Given the description of an element on the screen output the (x, y) to click on. 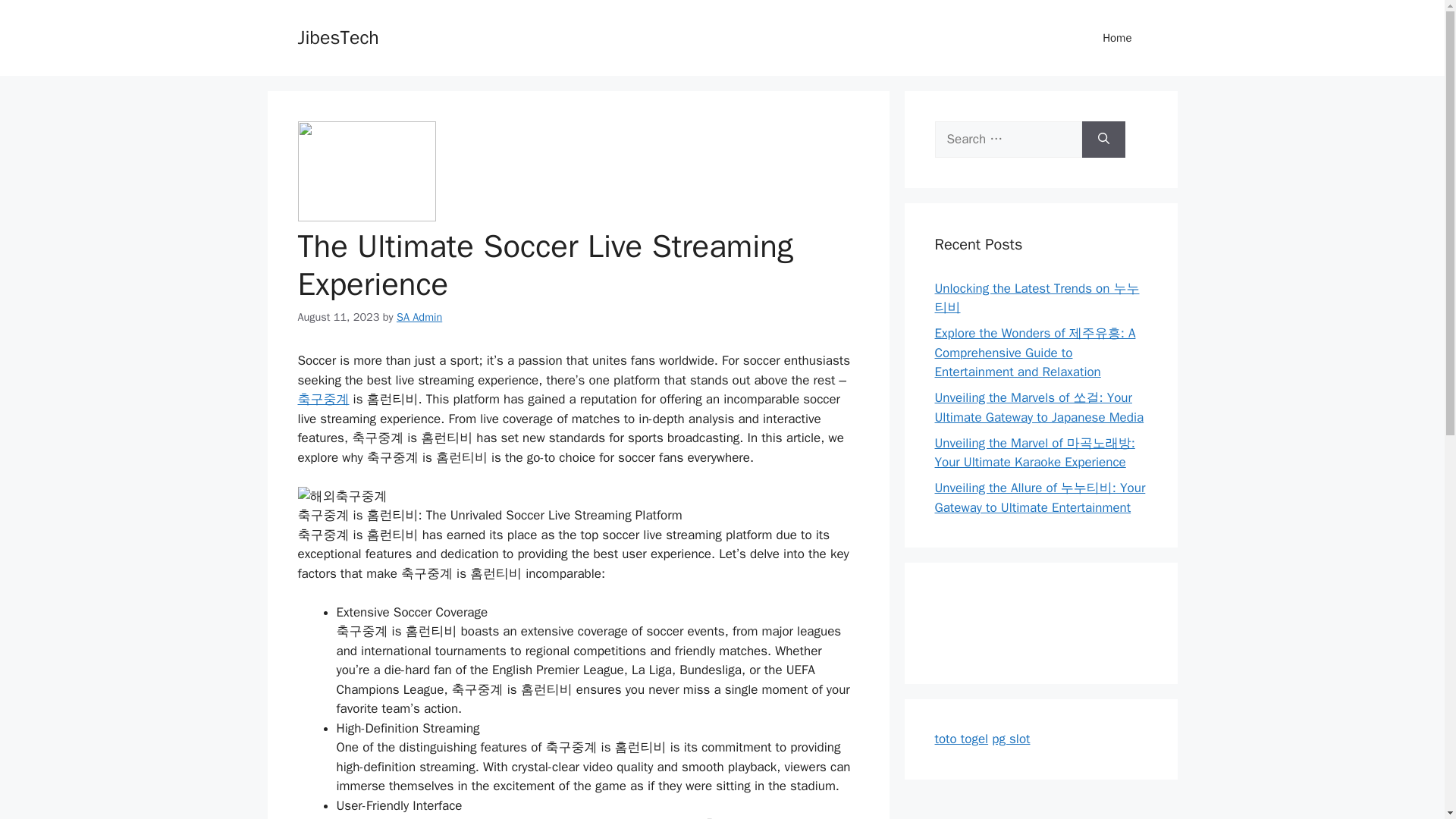
toto togel (961, 738)
SA Admin (419, 315)
View all posts by SA Admin (419, 315)
Home (1117, 37)
JibesTech (337, 37)
pg slot (1010, 738)
Search for: (1007, 139)
